Given the description of an element on the screen output the (x, y) to click on. 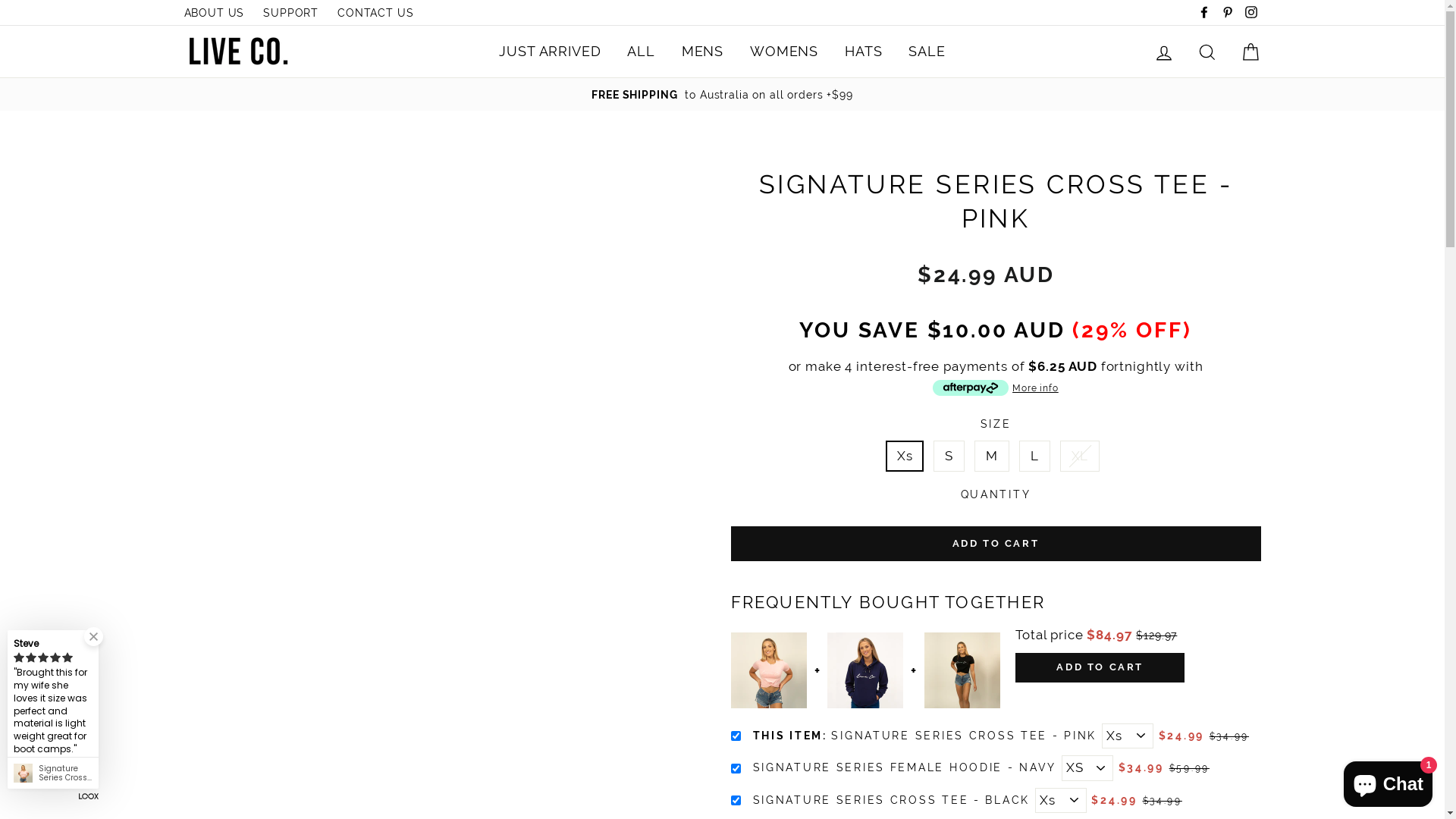
Facebook Element type: text (1204, 12)
SALE Element type: text (926, 51)
HATS Element type: text (863, 51)
Shopify online store chat Element type: hover (1388, 780)
CONTACT US Element type: text (375, 12)
Skip to content Element type: text (0, 0)
ABOUT US Element type: text (213, 12)
SUPPORT Element type: text (290, 12)
Cart Element type: text (1249, 51)
ADD TO CART Element type: text (996, 543)
MENS Element type: text (702, 51)
Pinterest Element type: text (1227, 12)
More info Element type: text (995, 386)
JUST ARRIVED Element type: text (549, 51)
Instagram Element type: text (1250, 12)
WOMENS Element type: text (783, 51)
ALL Element type: text (640, 51)
